Given the description of an element on the screen output the (x, y) to click on. 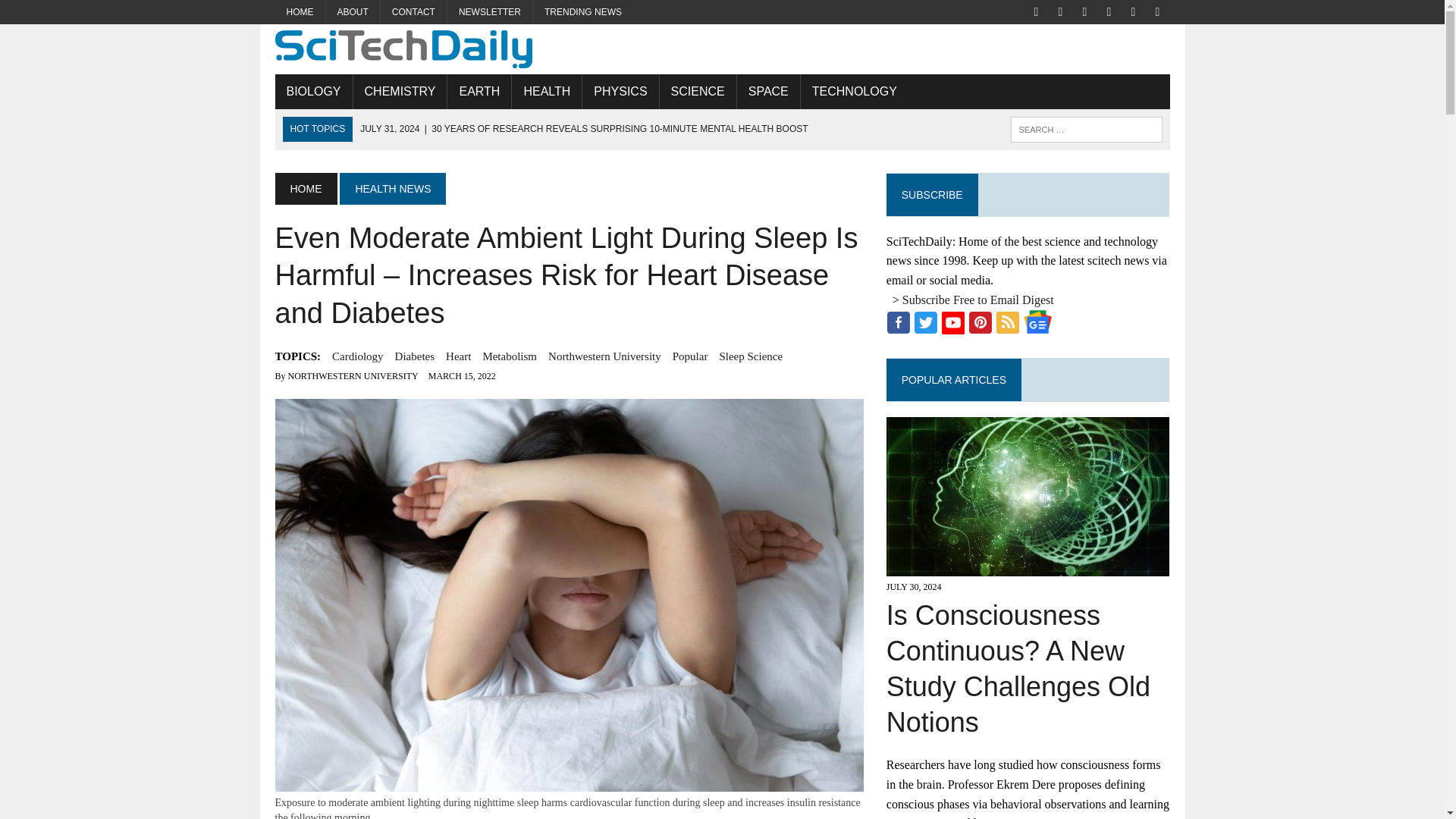
SciTechDaily (722, 48)
TECHNOLOGY (854, 91)
CHEMISTRY (399, 91)
ABOUT (353, 12)
EARTH (478, 91)
Cardiology (357, 356)
Contact SciTechDaily.com (413, 12)
BIOLOGY (313, 91)
About SciTechDaily (353, 12)
NEWSLETTER (489, 12)
CONTACT (413, 12)
Diabetes (413, 356)
HOME (305, 188)
HEALTH NEWS (392, 188)
